Given the description of an element on the screen output the (x, y) to click on. 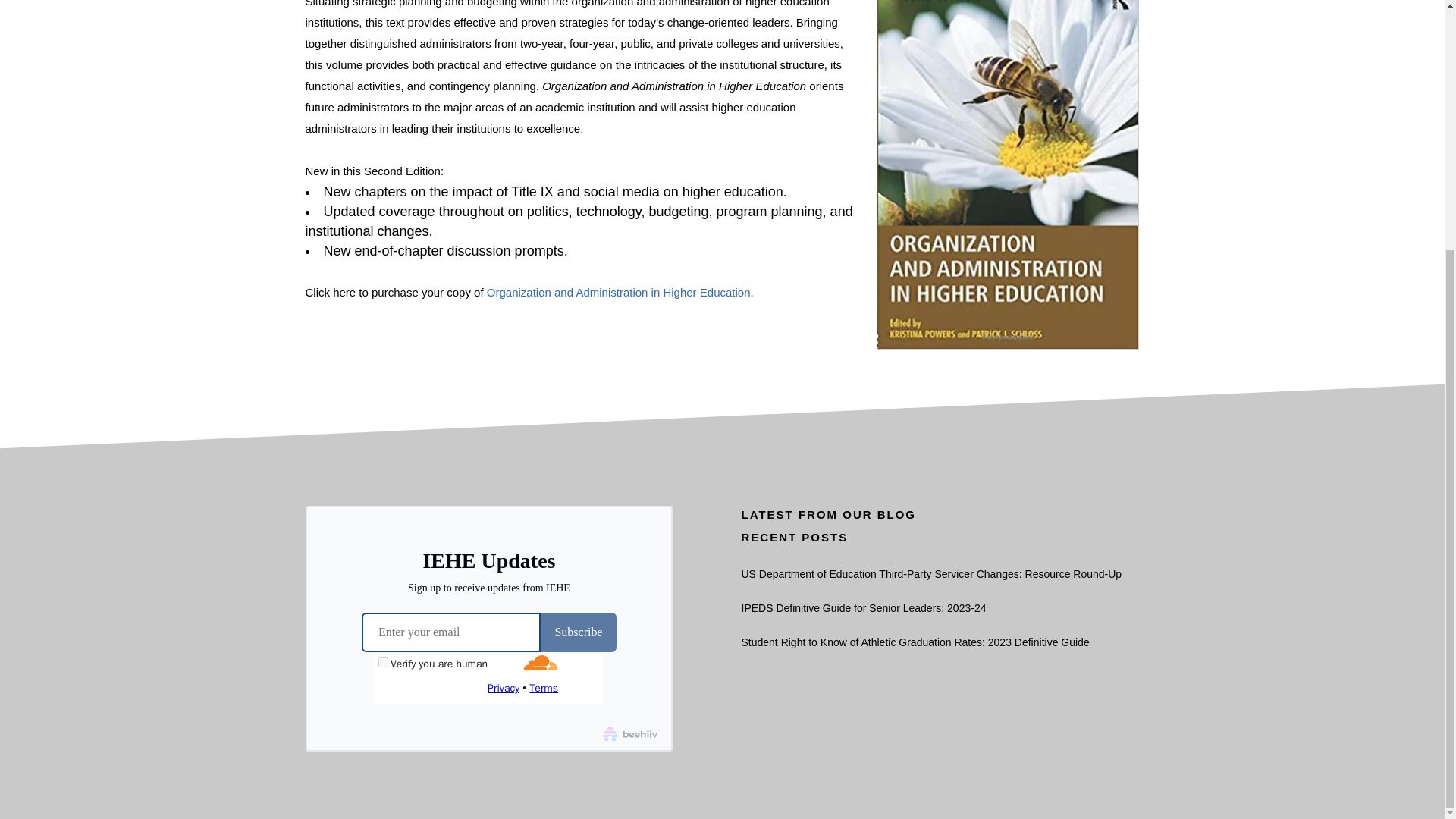
IPEDS Definitive Guide for Senior Leaders: 2023-24 (940, 256)
Organization and Administration in Higher Education (618, 291)
